Given the description of an element on the screen output the (x, y) to click on. 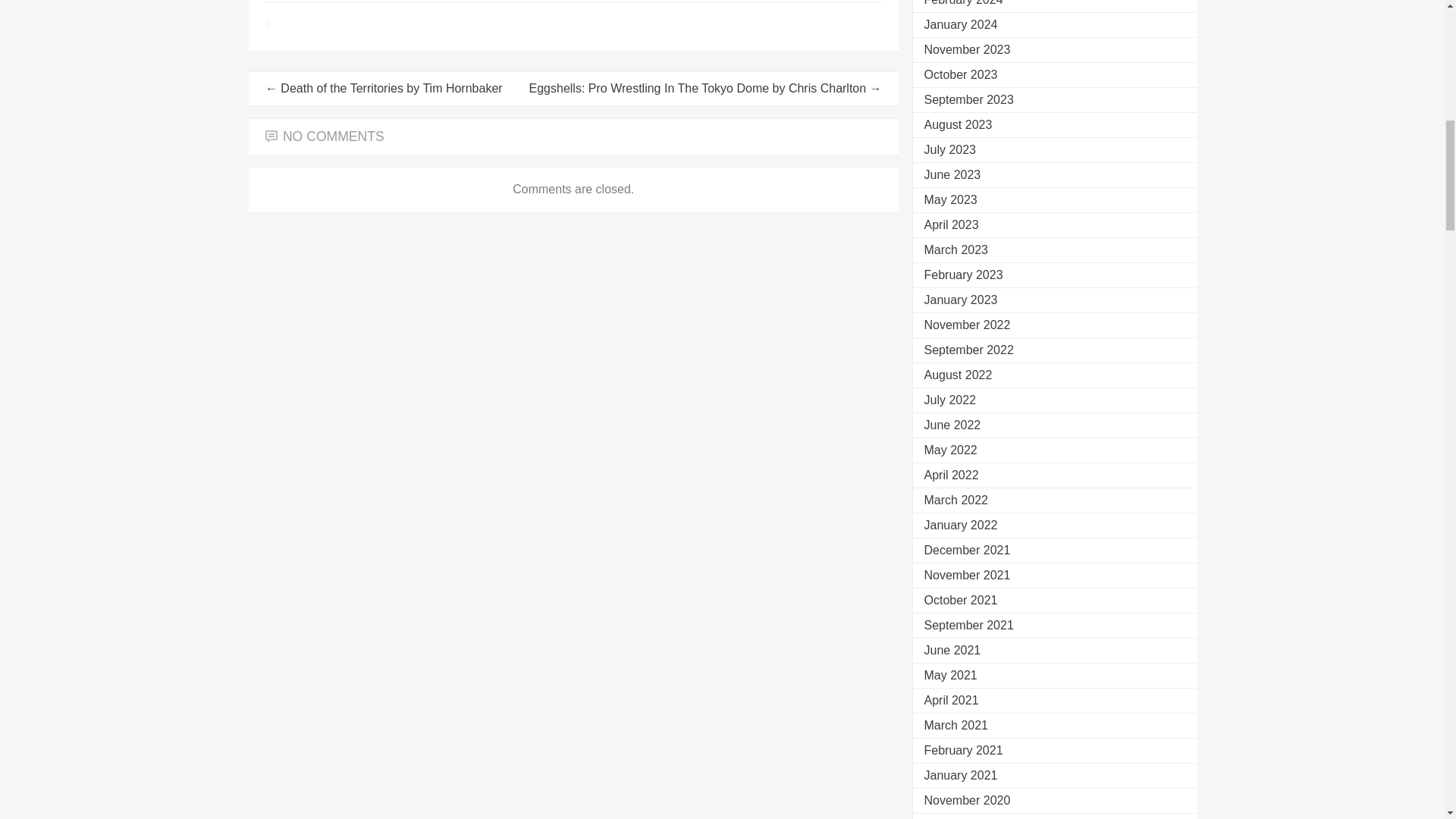
February 2023 (963, 274)
January 2023 (960, 299)
January 2024 (960, 24)
July 2023 (949, 149)
June 2023 (951, 174)
October 2023 (960, 74)
September 2023 (968, 99)
August 2023 (957, 124)
May 2023 (949, 199)
February 2024 (963, 2)
November 2022 (966, 324)
November 2023 (966, 49)
April 2023 (950, 224)
March 2023 (955, 249)
